Given the description of an element on the screen output the (x, y) to click on. 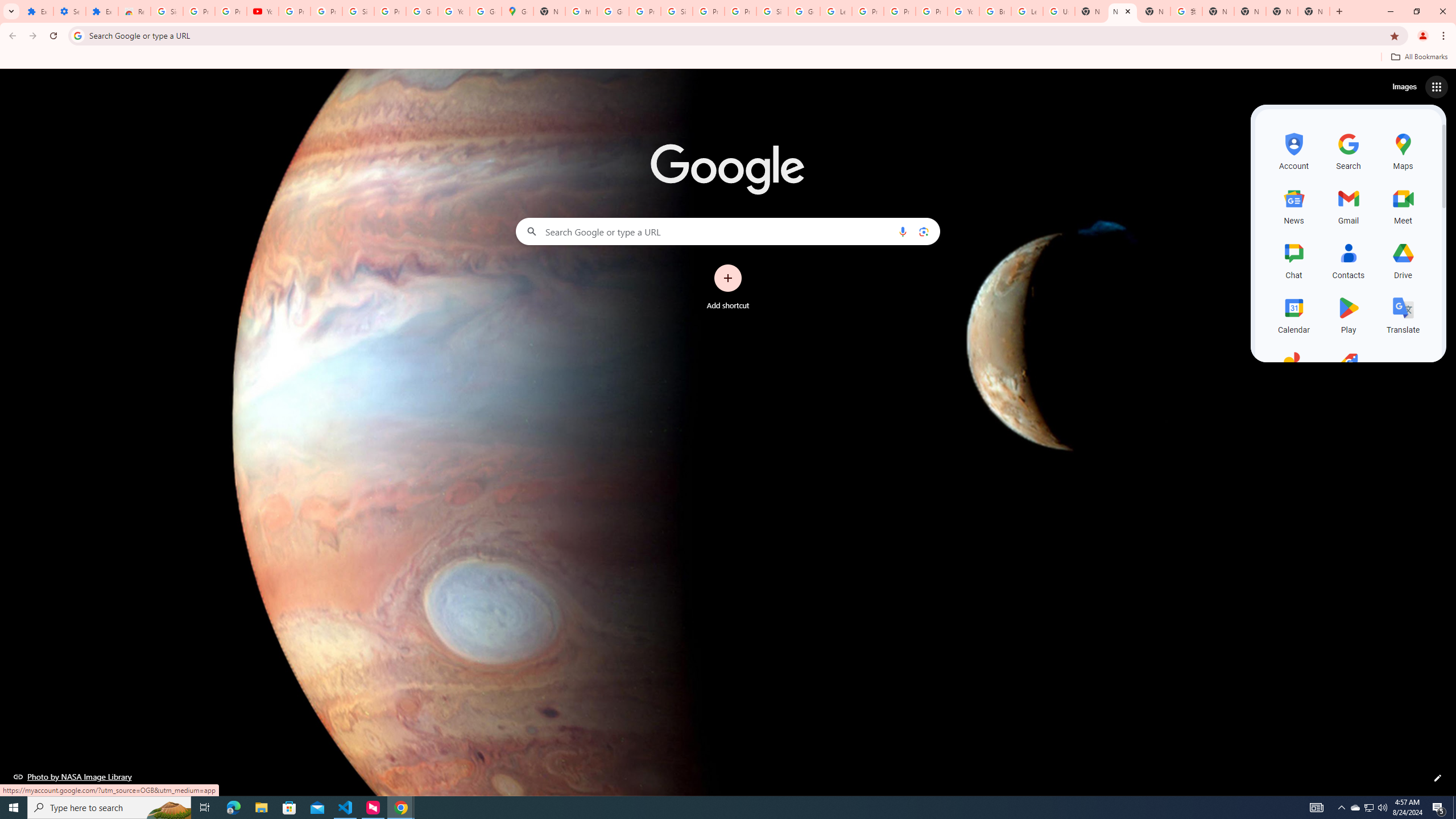
YouTube (963, 11)
https://scholar.google.com/ (581, 11)
New Tab (1313, 11)
Chat, row 3 of 5 and column 1 of 3 in the first section (1293, 259)
